Given the description of an element on the screen output the (x, y) to click on. 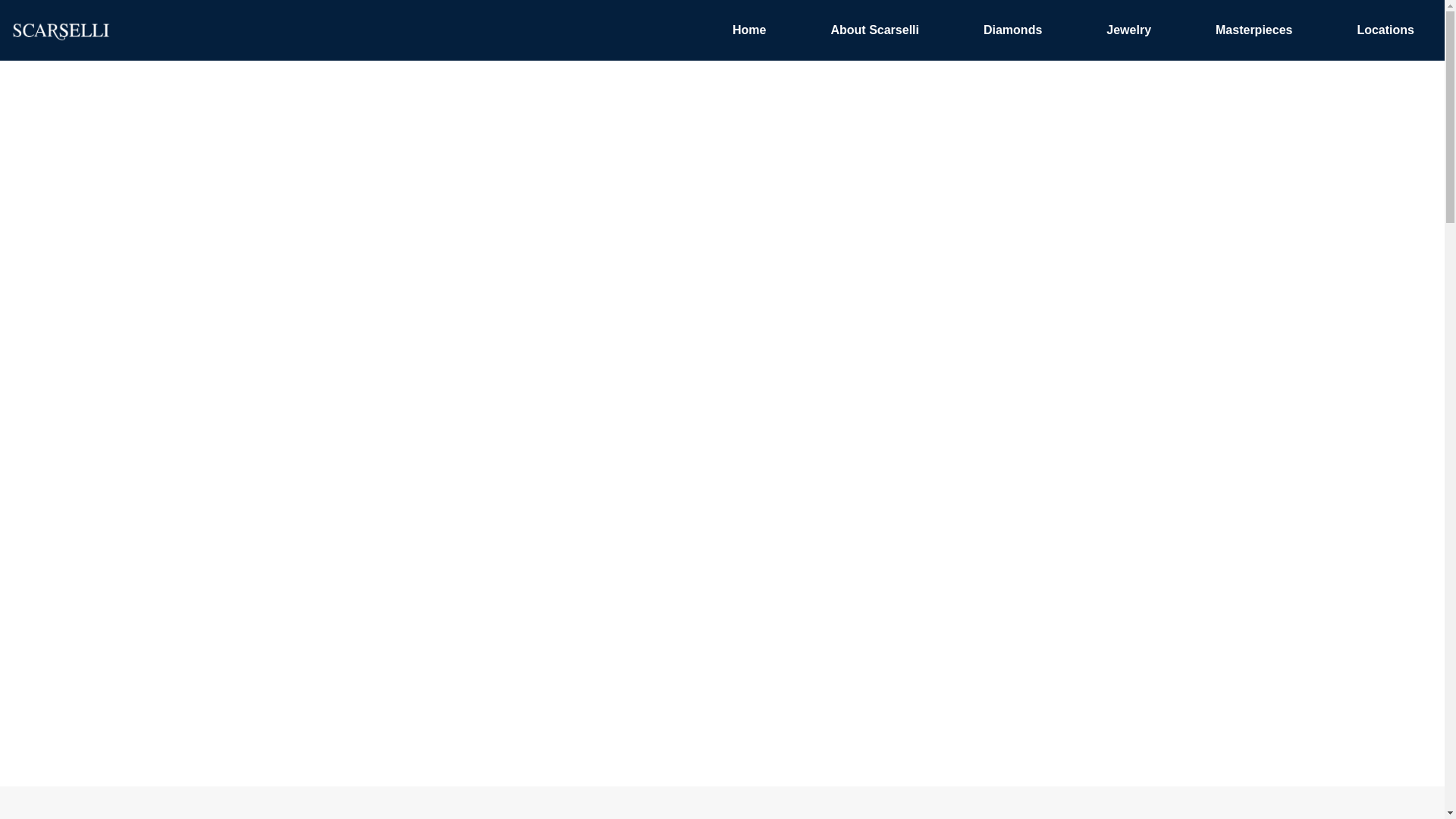
About Scarselli (874, 30)
Masterpieces (1253, 30)
Diamonds (1012, 30)
Home (748, 30)
Jewelry (1127, 30)
